Given the description of an element on the screen output the (x, y) to click on. 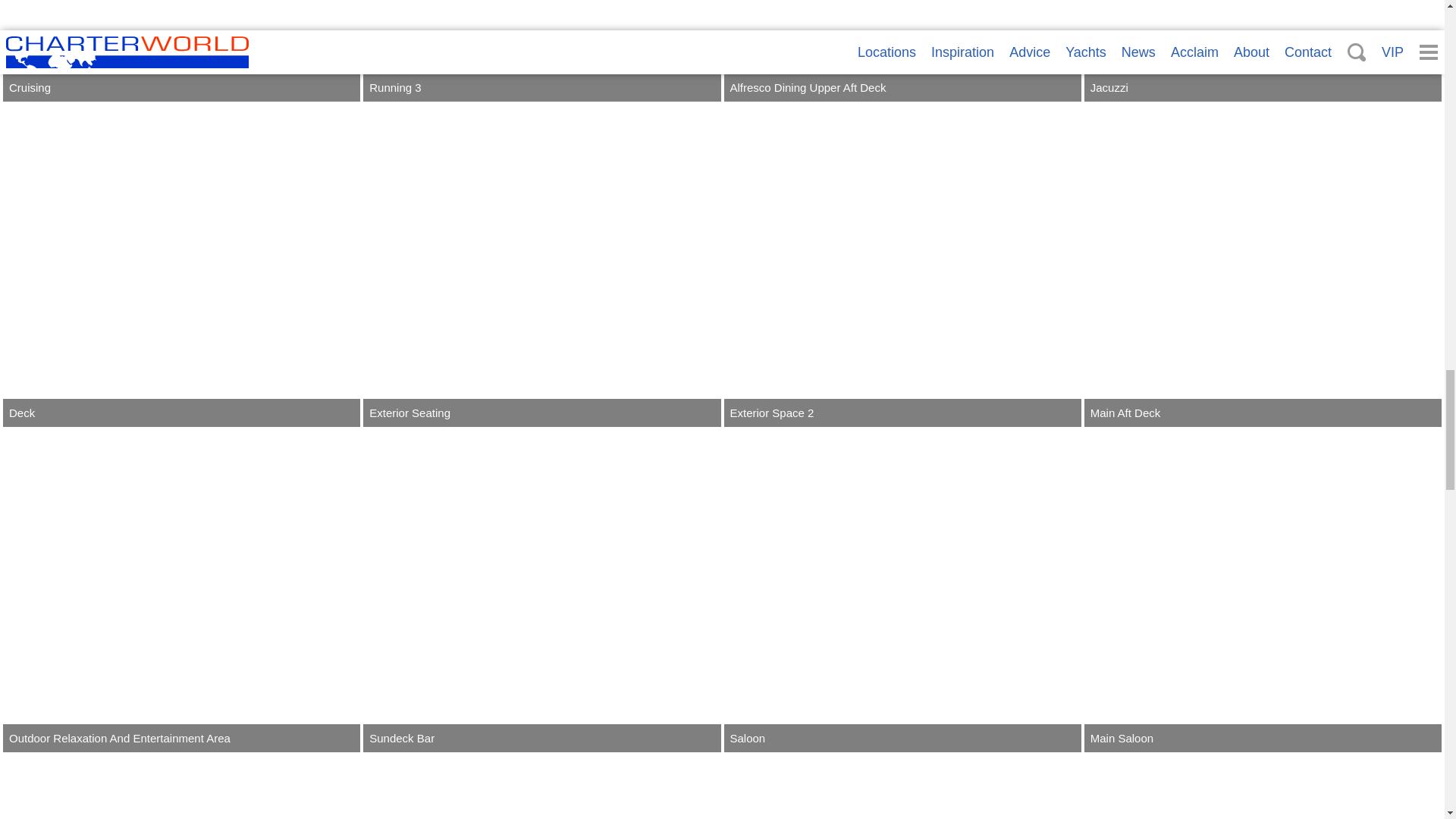
Dining Area (180, 787)
Alfresco Dining Upper Aft Deck (901, 50)
Exterior Seating (541, 265)
Jacuzzi (1262, 50)
Saloon (901, 590)
Cruising (180, 50)
Deck (180, 265)
Exterior Space 2 (901, 265)
Outdoor Relaxation And Entertainment Area (180, 590)
Main Saloon (1262, 590)
Main Aft Deck (1262, 265)
Running 3 (541, 50)
Sundeck Bar (541, 590)
Cruising (180, 50)
